Given the description of an element on the screen output the (x, y) to click on. 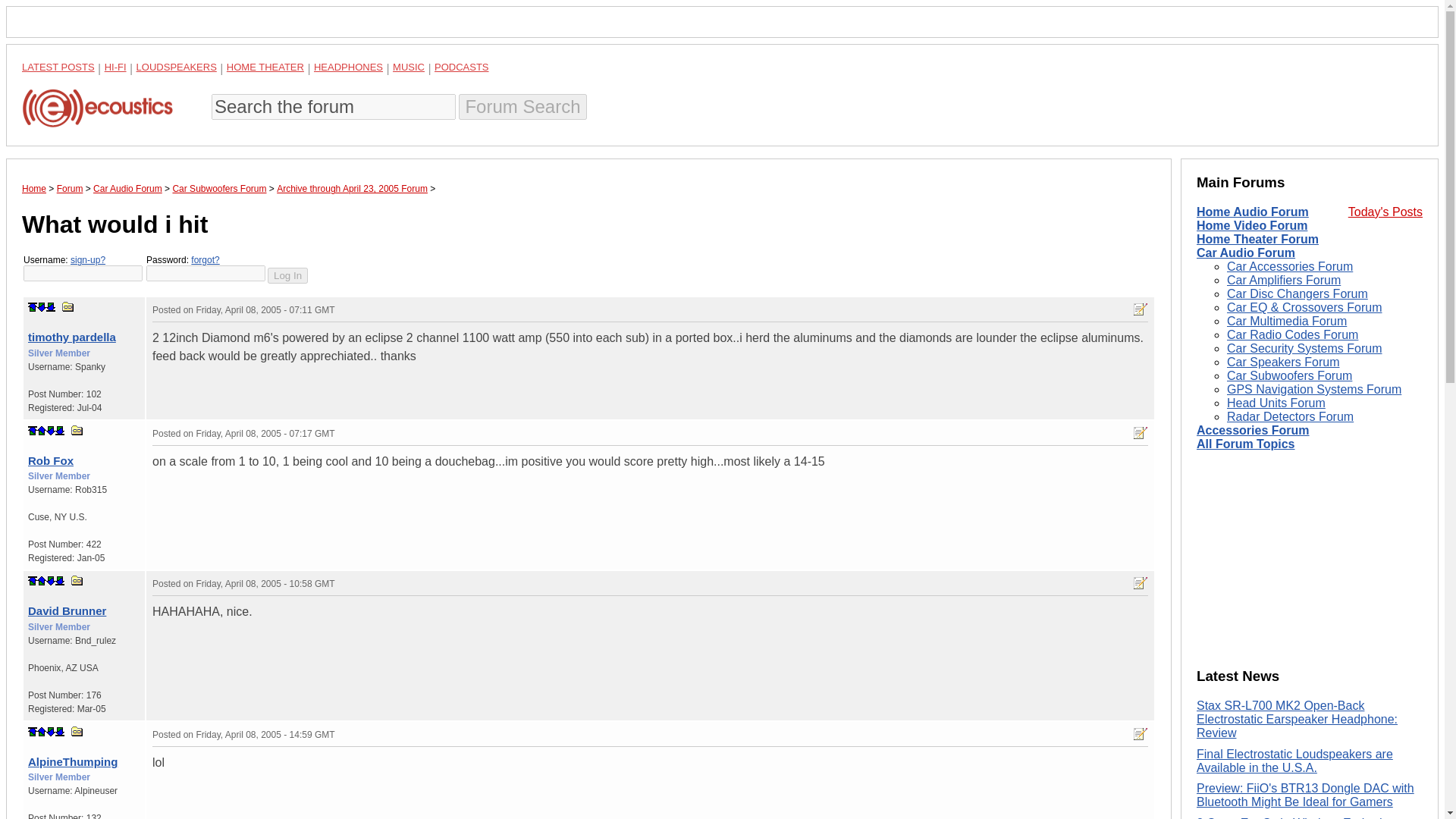
LOUDSPEAKERS (176, 66)
Car Audio Forum (127, 188)
Forgot your password? (204, 259)
Log In (287, 275)
Search (522, 106)
next post (41, 307)
top of page (32, 429)
Home (33, 188)
PODCASTS (461, 66)
next post (50, 580)
